Given the description of an element on the screen output the (x, y) to click on. 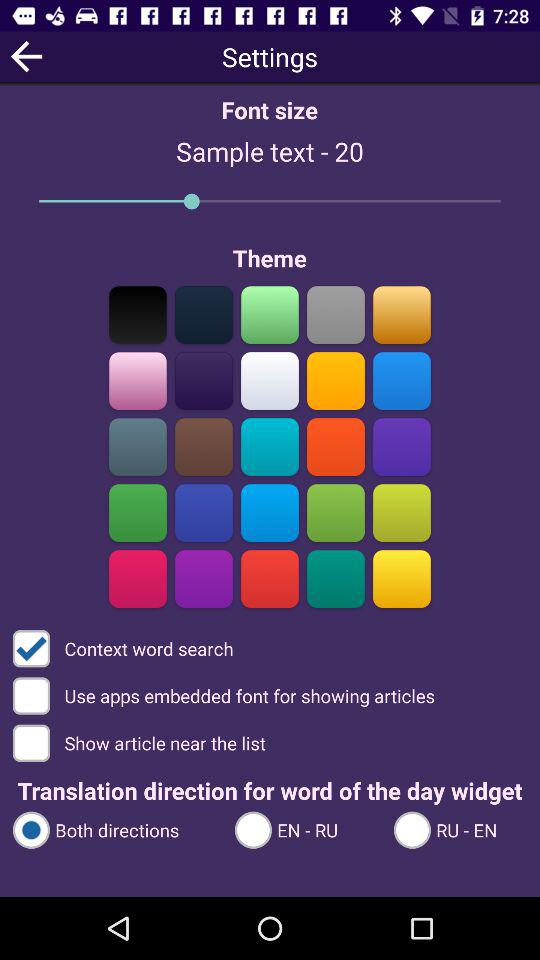
change theme color (203, 578)
